Given the description of an element on the screen output the (x, y) to click on. 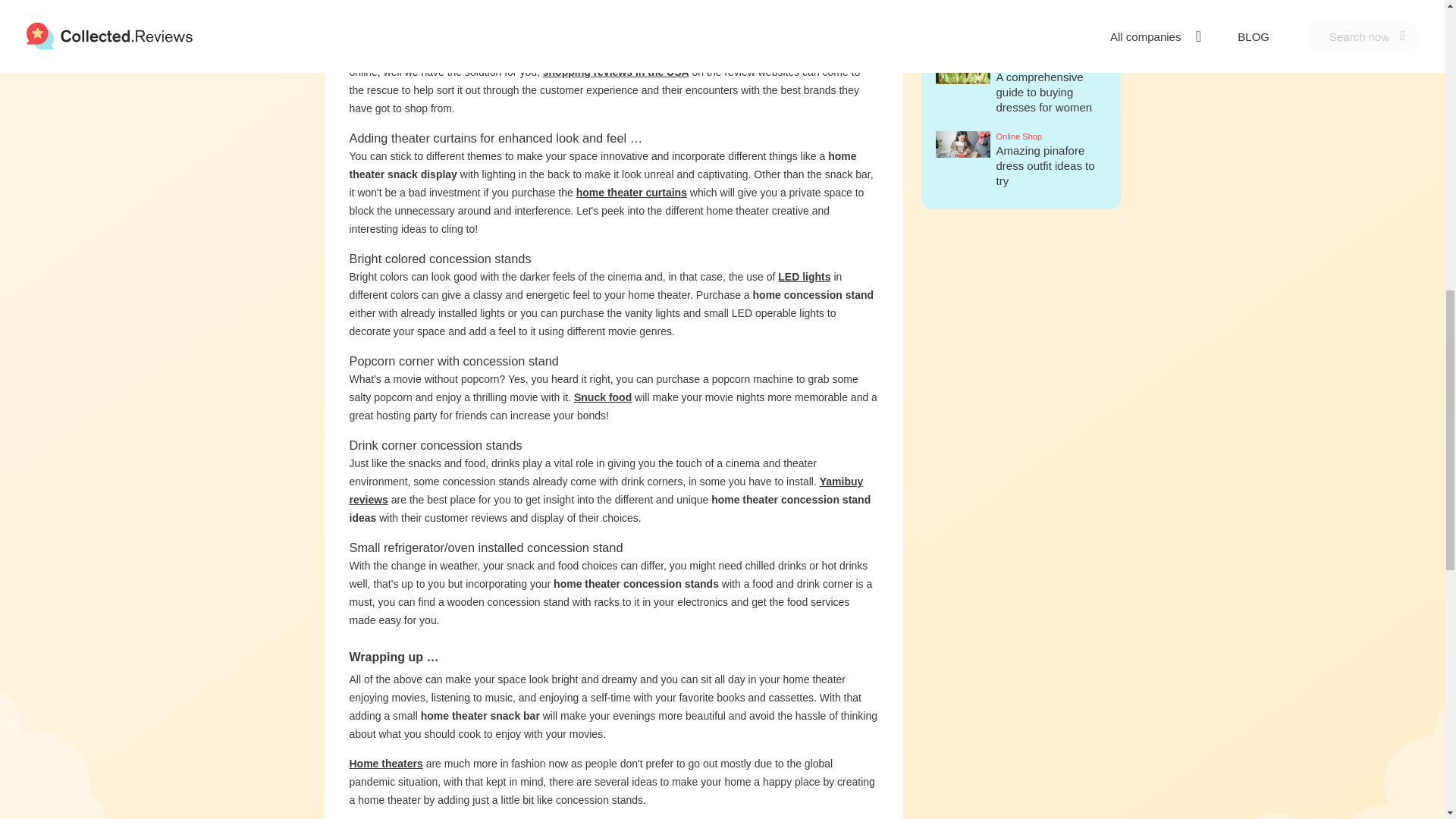
Crochet dress easy styling ideas (1044, 35)
Online Shop (1050, 137)
A comprehensive guide to buying dresses for women (1044, 101)
Amazing pinafore dress outfit ideas to try (1044, 175)
Online Shop (1050, 63)
Online Shop (1050, 6)
